Given the description of an element on the screen output the (x, y) to click on. 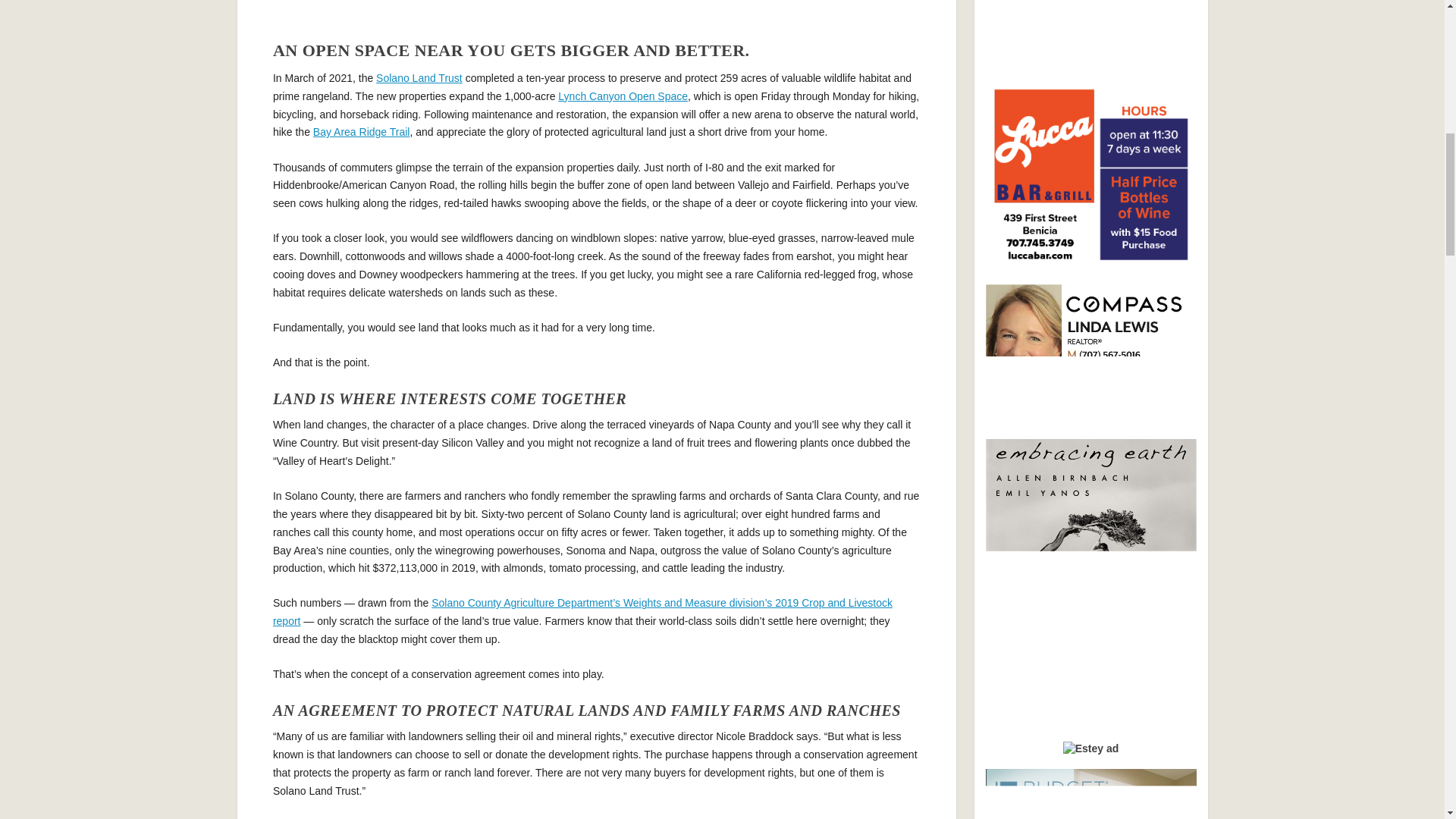
Solano Land Trust (419, 78)
Bay Area Ridge Trail (361, 132)
Lynch Canyon Open Space (622, 96)
